Given the description of an element on the screen output the (x, y) to click on. 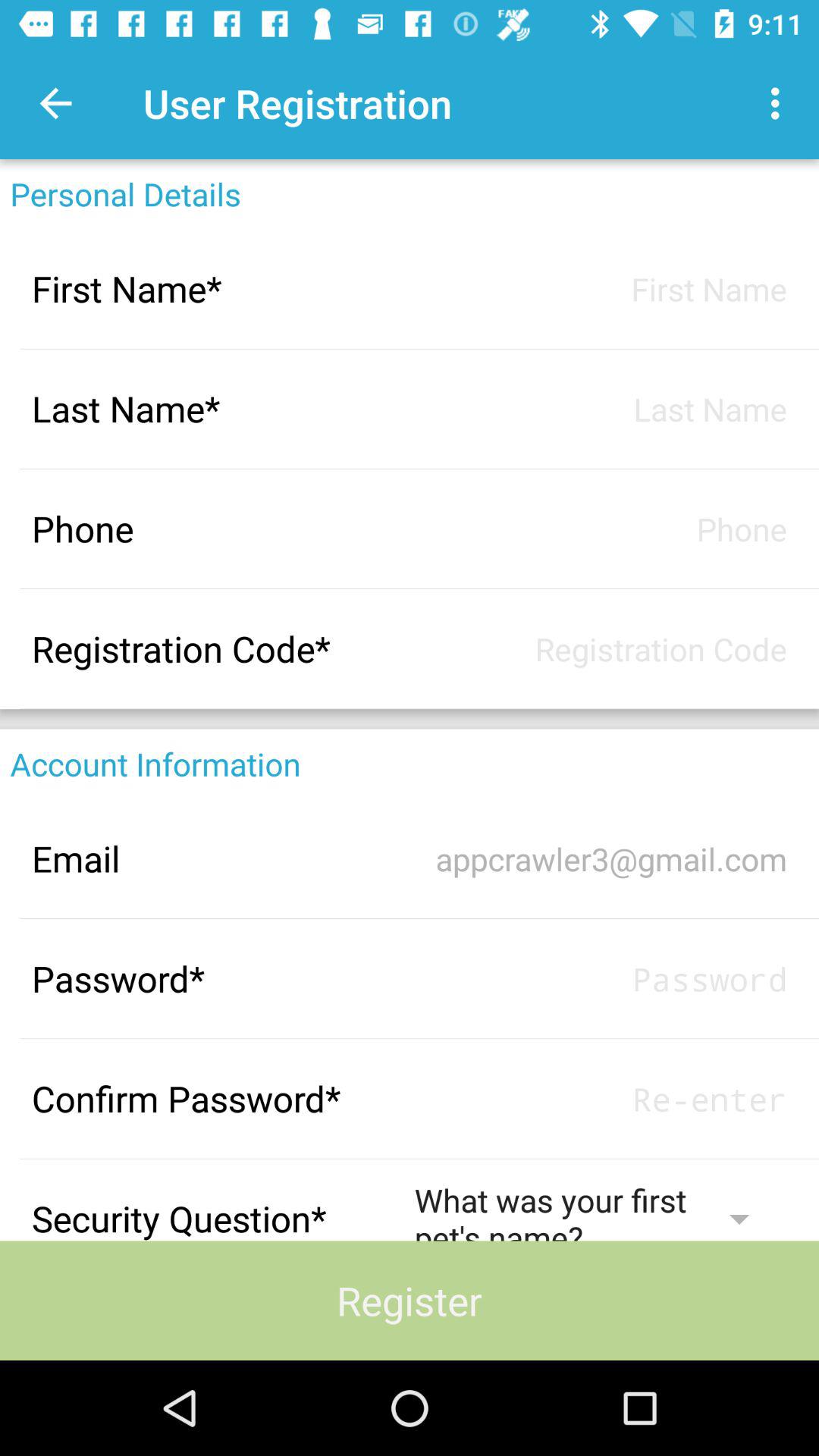
password textbox (600, 978)
